Given the description of an element on the screen output the (x, y) to click on. 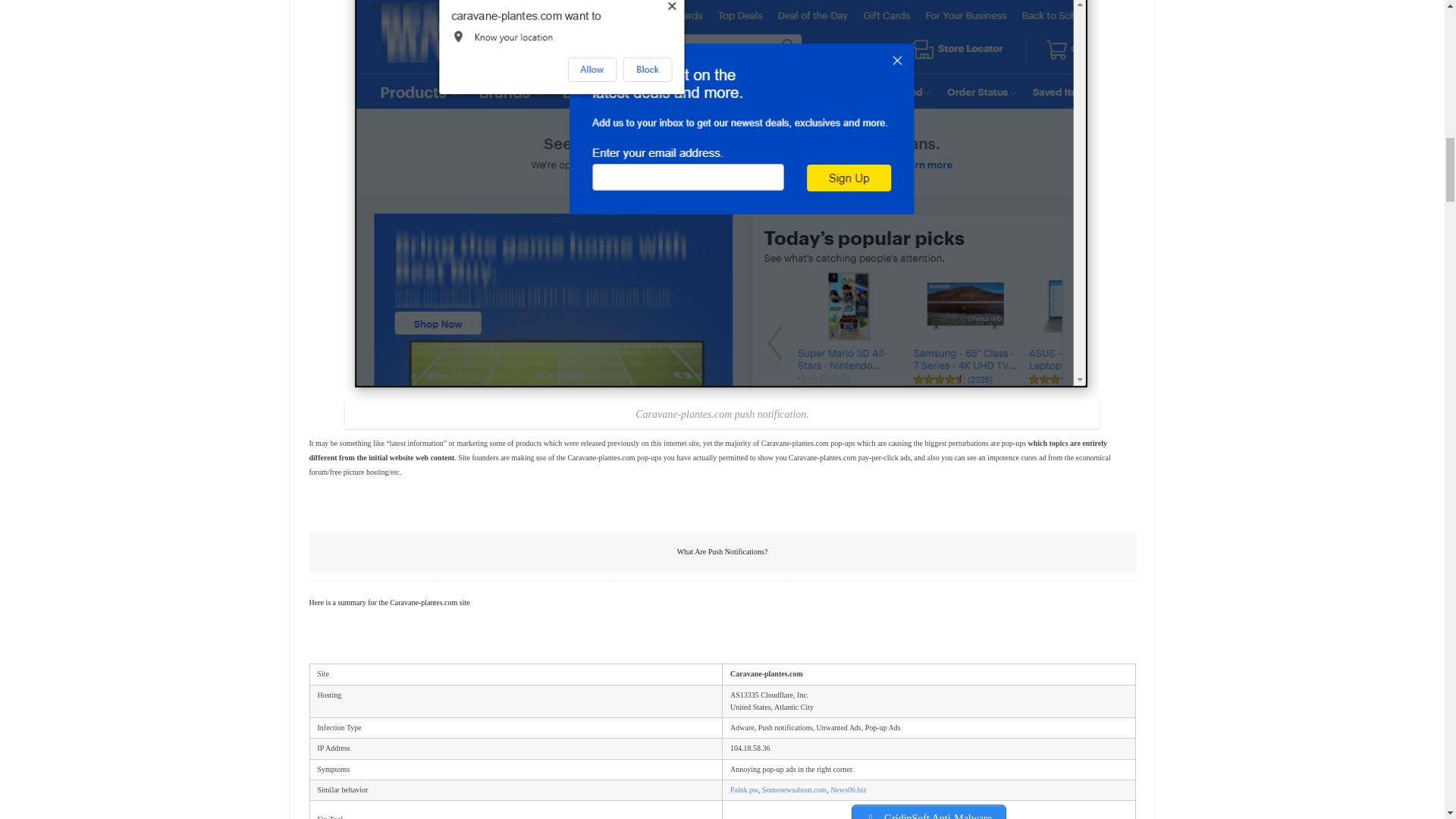
News06.biz (847, 789)
Somenewsabout.com (794, 789)
GridinSoft Anti-Malware (928, 811)
Palnk.pw (744, 789)
